Given the description of an element on the screen output the (x, y) to click on. 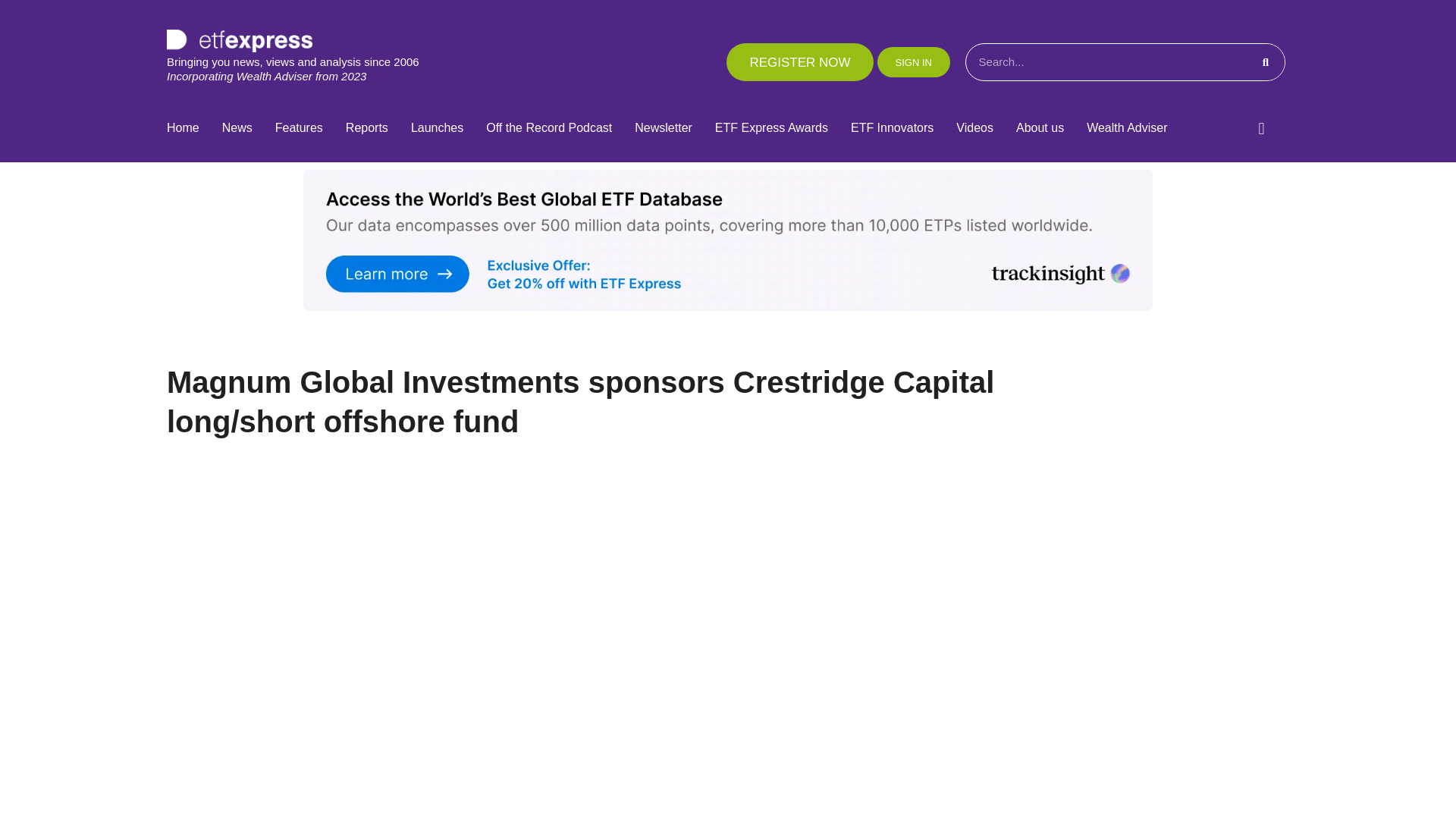
SIGN IN (913, 61)
REGISTER NOW (799, 62)
